Given the description of an element on the screen output the (x, y) to click on. 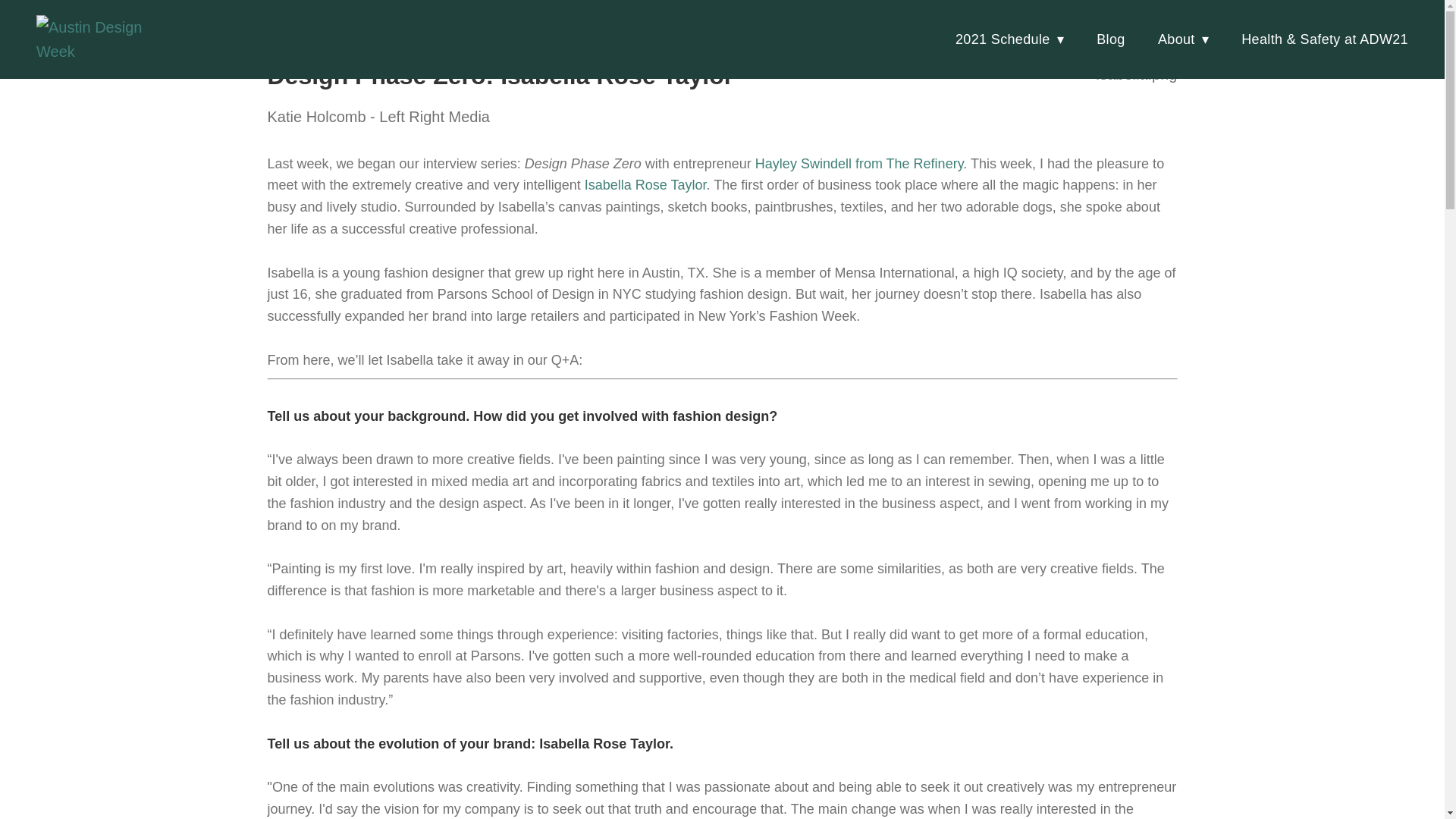
Blog (1110, 39)
Austin Design Week (109, 39)
Hayley Swindell from The Refinery (858, 163)
Isabella Rose Taylor (645, 184)
